Given the description of an element on the screen output the (x, y) to click on. 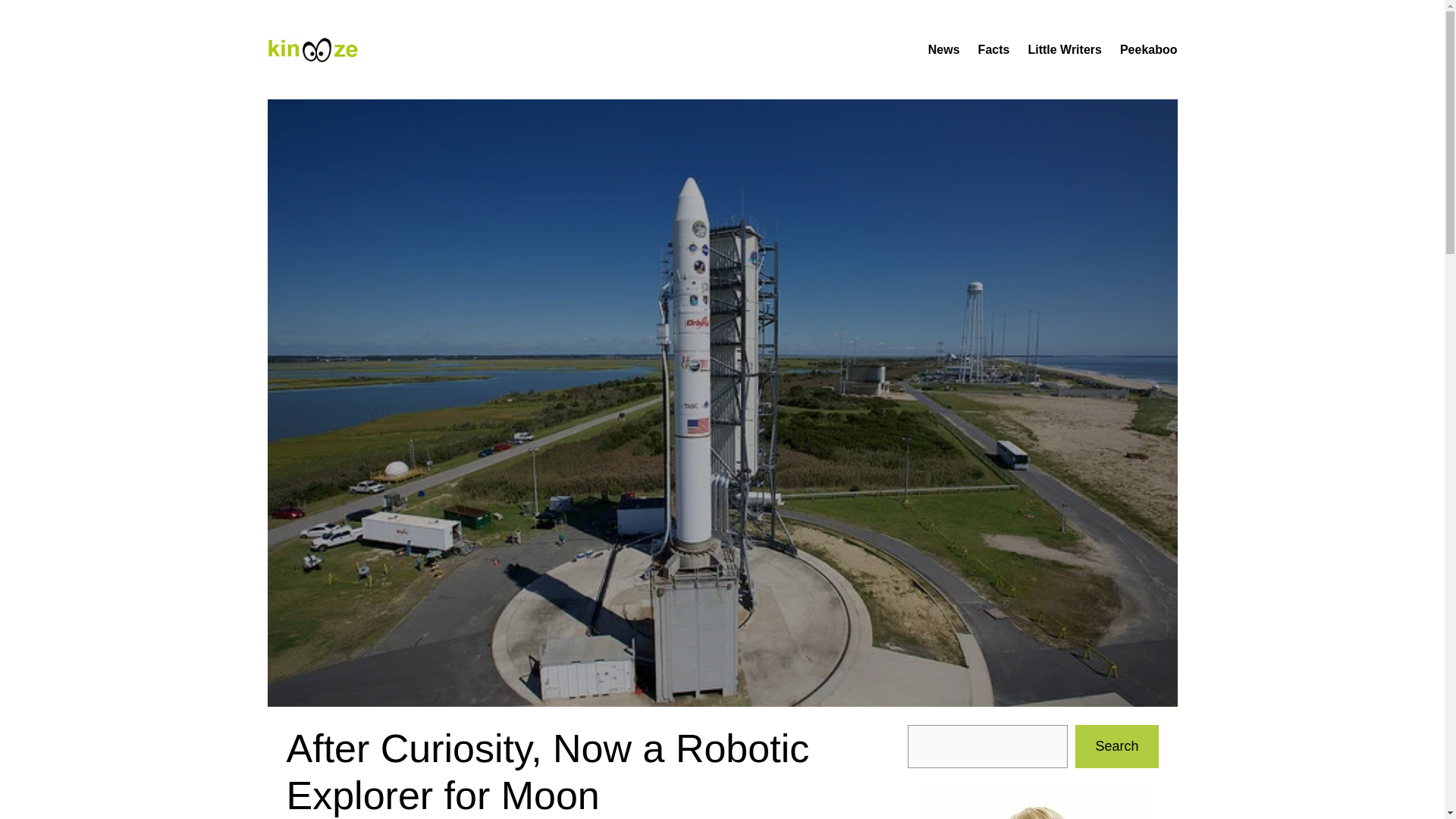
Search (1116, 746)
Facts (994, 49)
Peekaboo (1148, 49)
Little Writers (1064, 49)
News (943, 49)
